Given the description of an element on the screen output the (x, y) to click on. 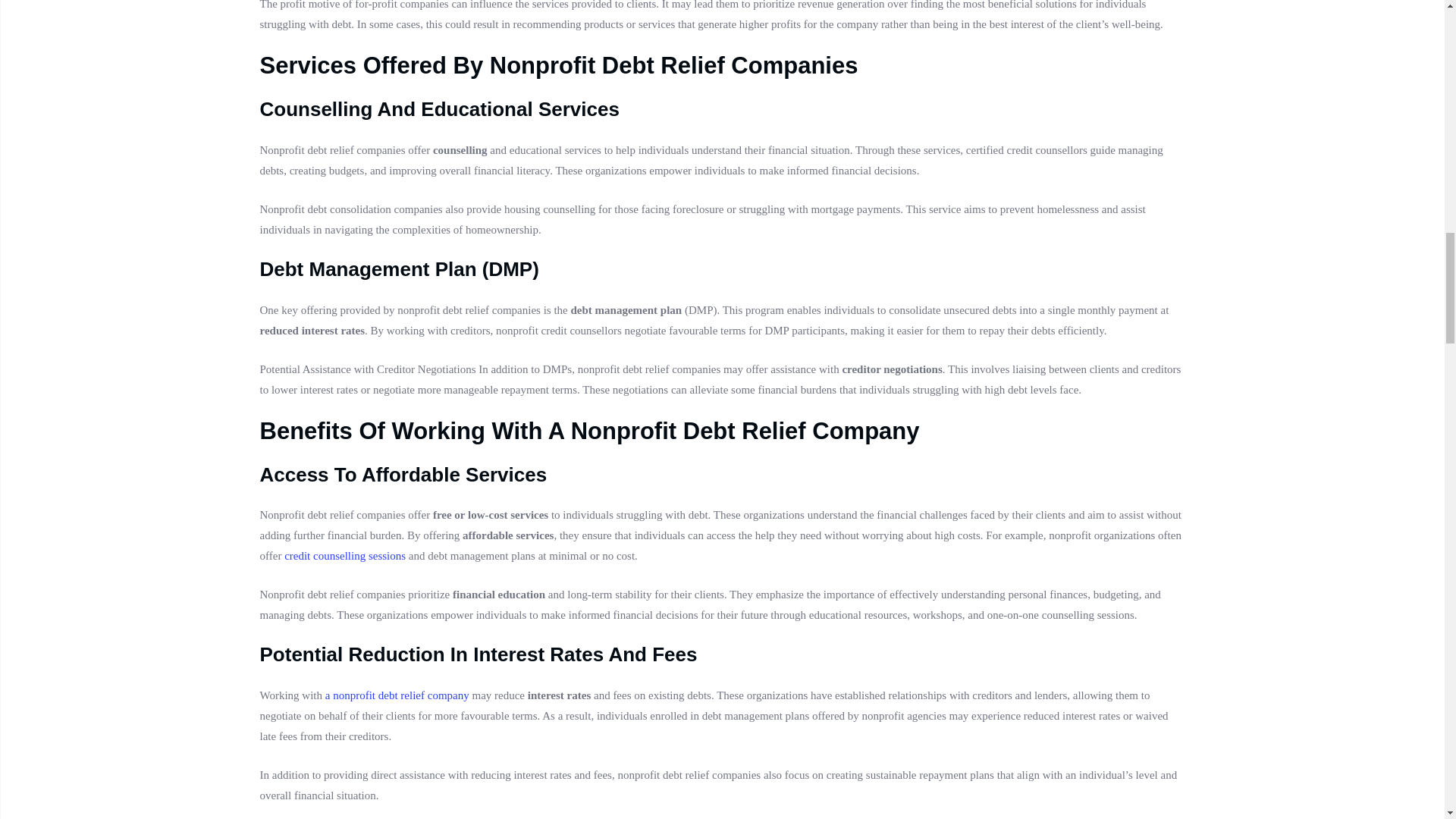
credit counselling sessions (344, 555)
a nonprofit debt relief company (396, 695)
